Given the description of an element on the screen output the (x, y) to click on. 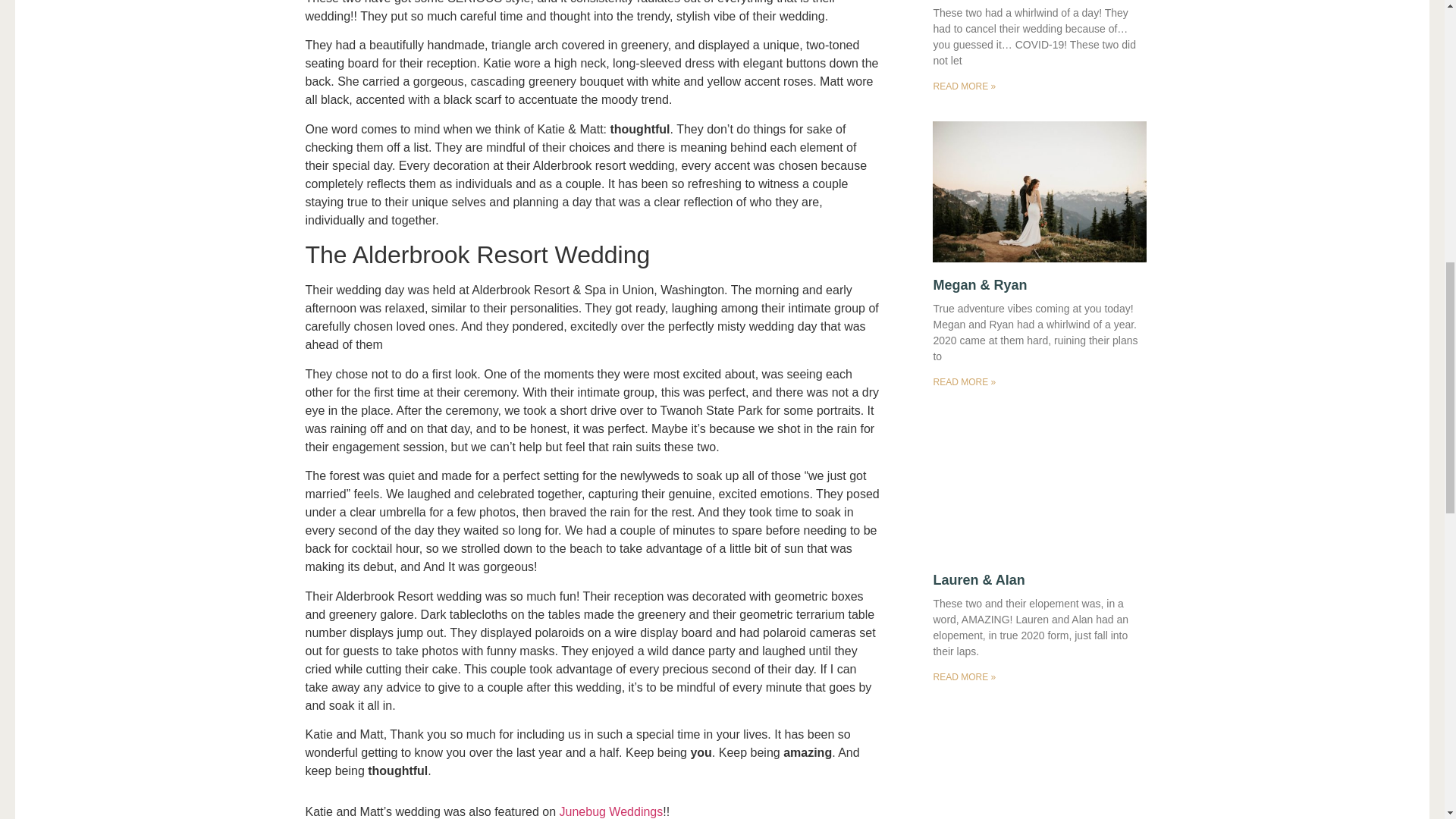
Junebug Weddings (611, 811)
